Given the description of an element on the screen output the (x, y) to click on. 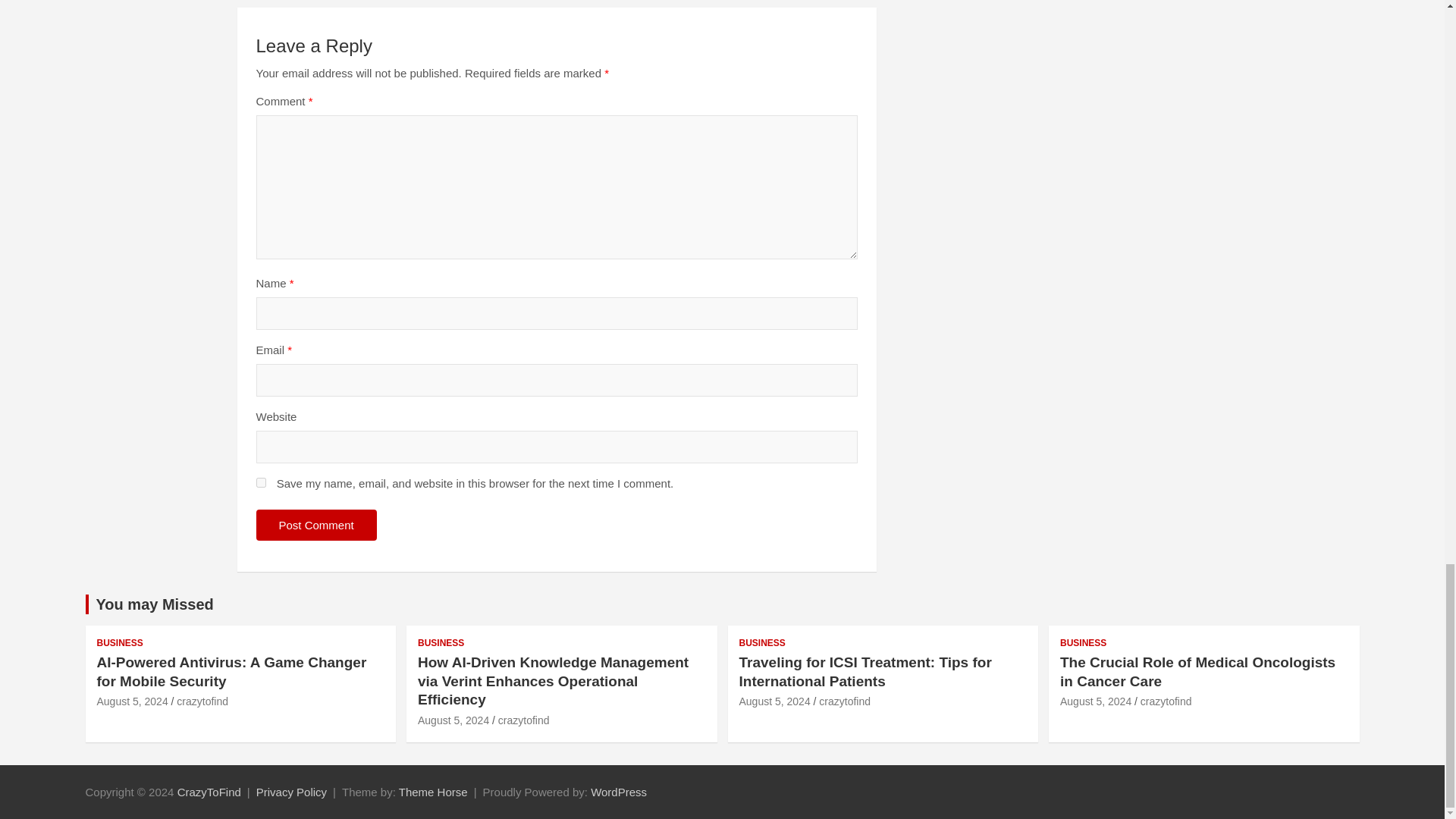
yes (261, 482)
BUSINESS (119, 643)
AI-Powered Antivirus: A Game Changer for Mobile Security (132, 701)
CrazyToFind (209, 791)
WordPress (618, 791)
The Crucial Role of Medical Oncologists in Cancer Care (1095, 701)
You may Missed (154, 604)
Post Comment (316, 524)
Theme Horse (432, 791)
